Given the description of an element on the screen output the (x, y) to click on. 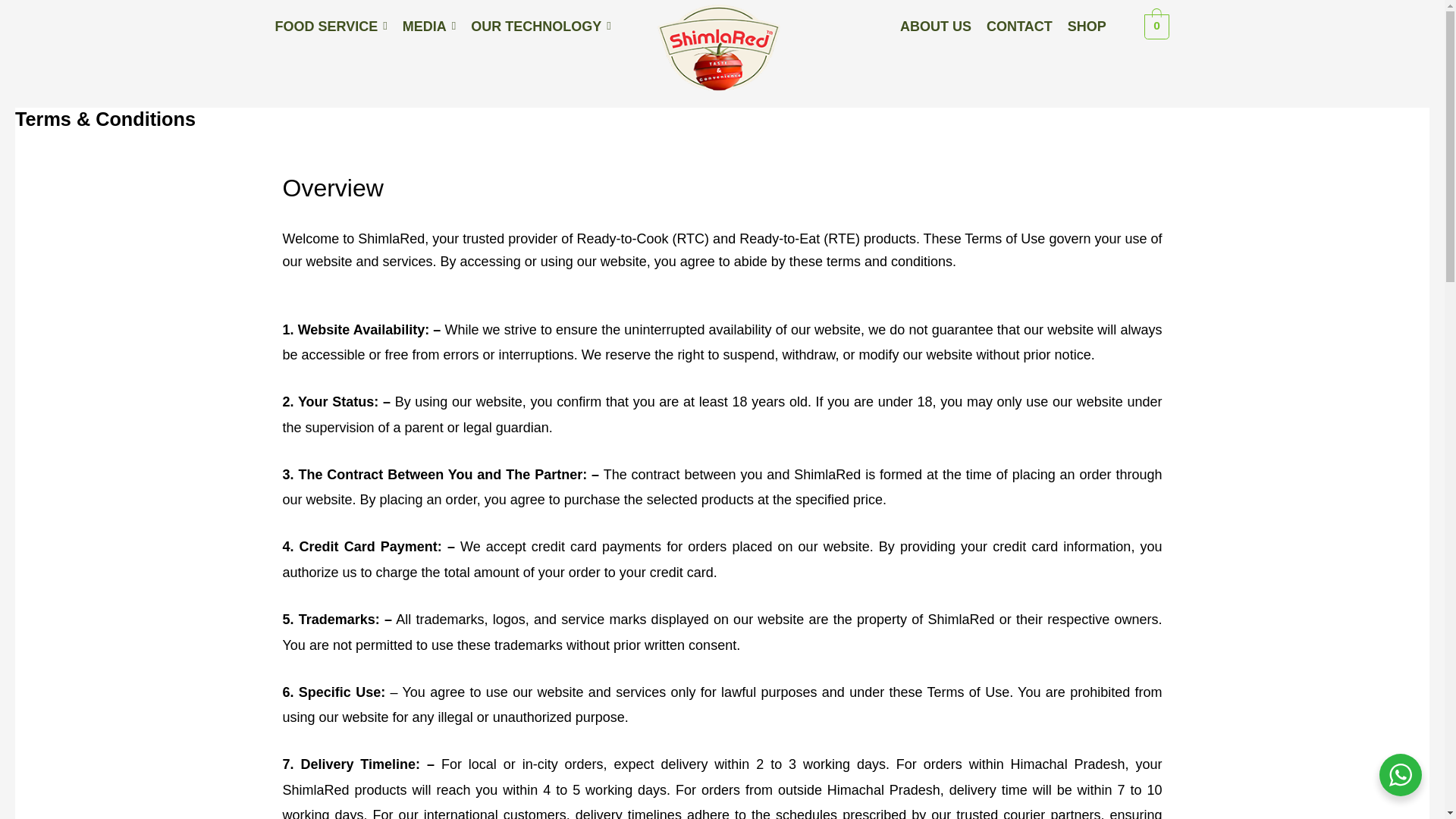
OUR TECHNOLOGY (540, 26)
CONTACT (1019, 26)
0 (1156, 25)
View your shopping cart (1156, 25)
SHOP (1086, 26)
MEDIA (429, 26)
ABOUT US (935, 26)
FOOD SERVICE (331, 26)
